Given the description of an element on the screen output the (x, y) to click on. 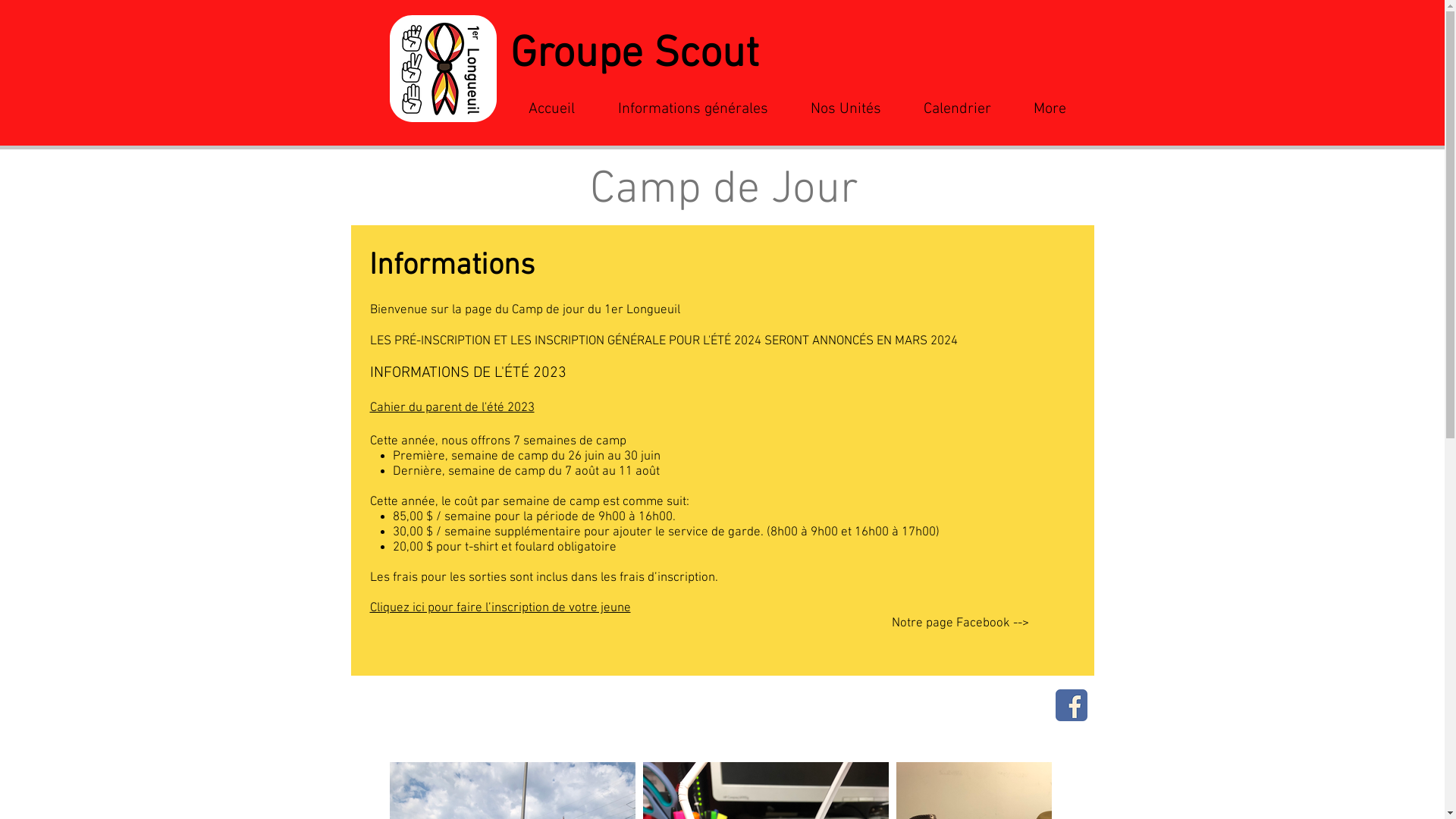
Groupe Scout Element type: text (633, 55)
Accueil Element type: text (540, 109)
Calendrier Element type: text (946, 109)
